Given the description of an element on the screen output the (x, y) to click on. 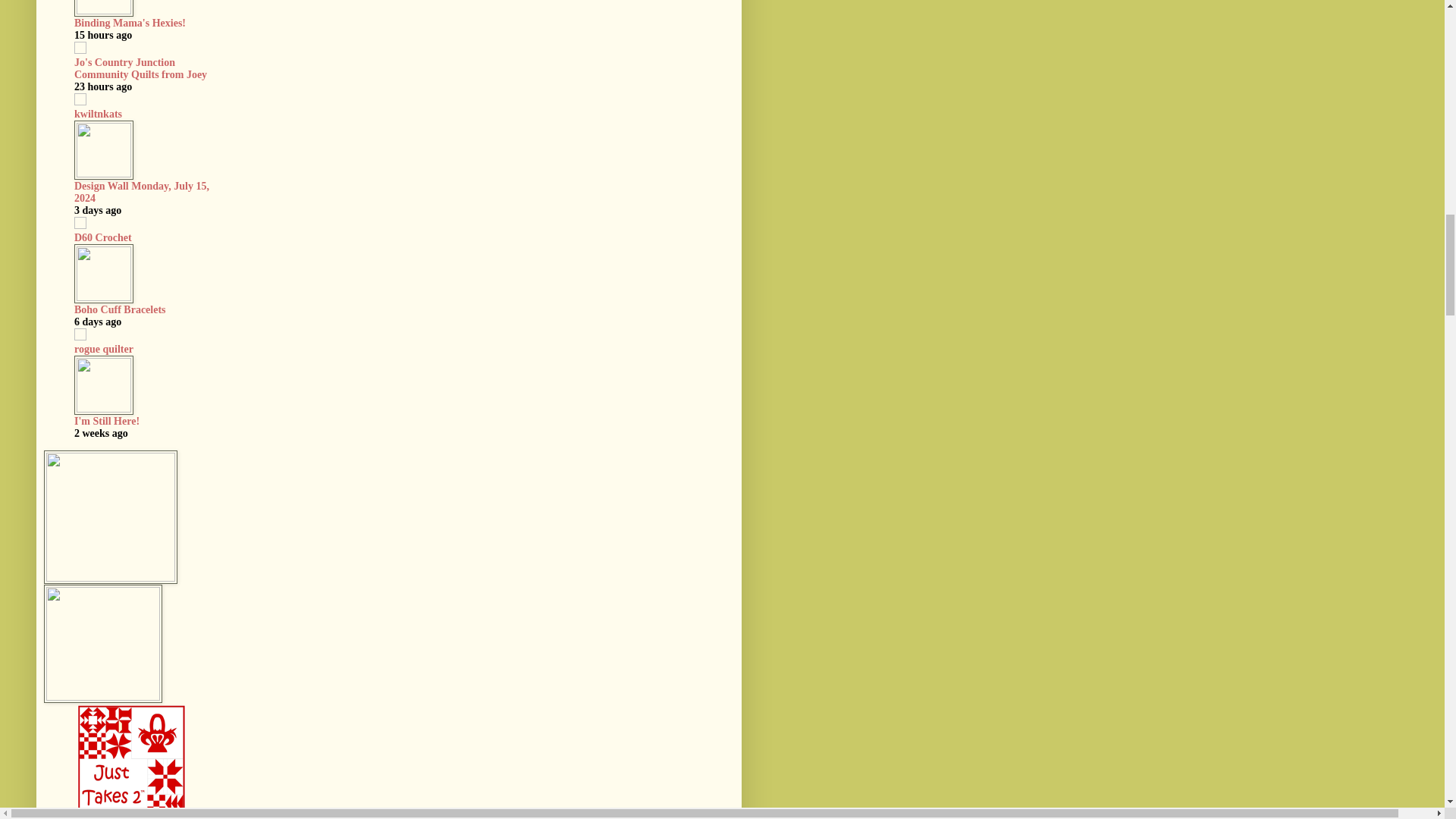
Binding Mama's Hexies! (130, 21)
Jo's Country Junction (124, 61)
